Given the description of an element on the screen output the (x, y) to click on. 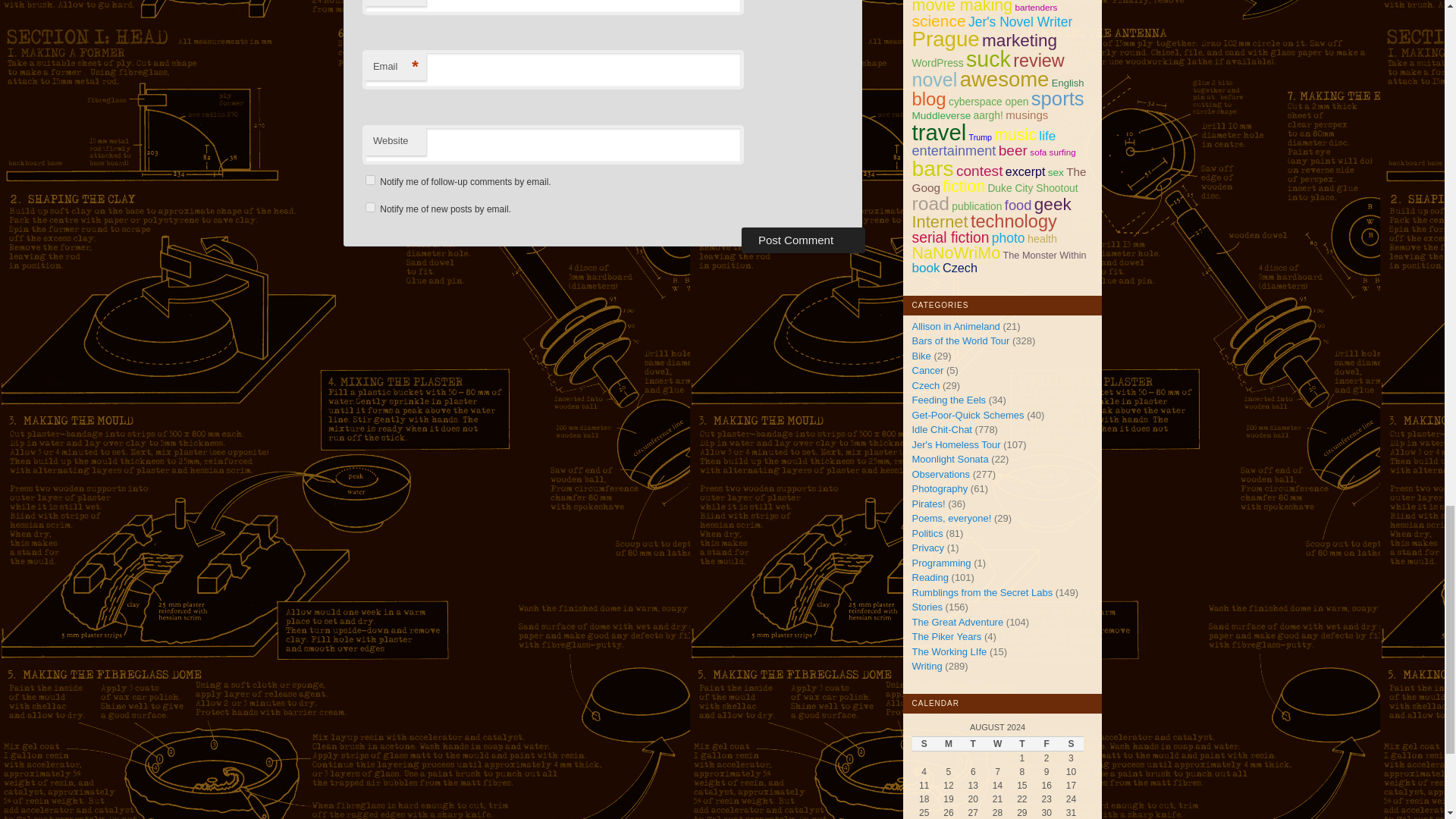
Post Comment (802, 240)
subscribe (370, 207)
subscribe (370, 180)
Post Comment (802, 240)
